Given the description of an element on the screen output the (x, y) to click on. 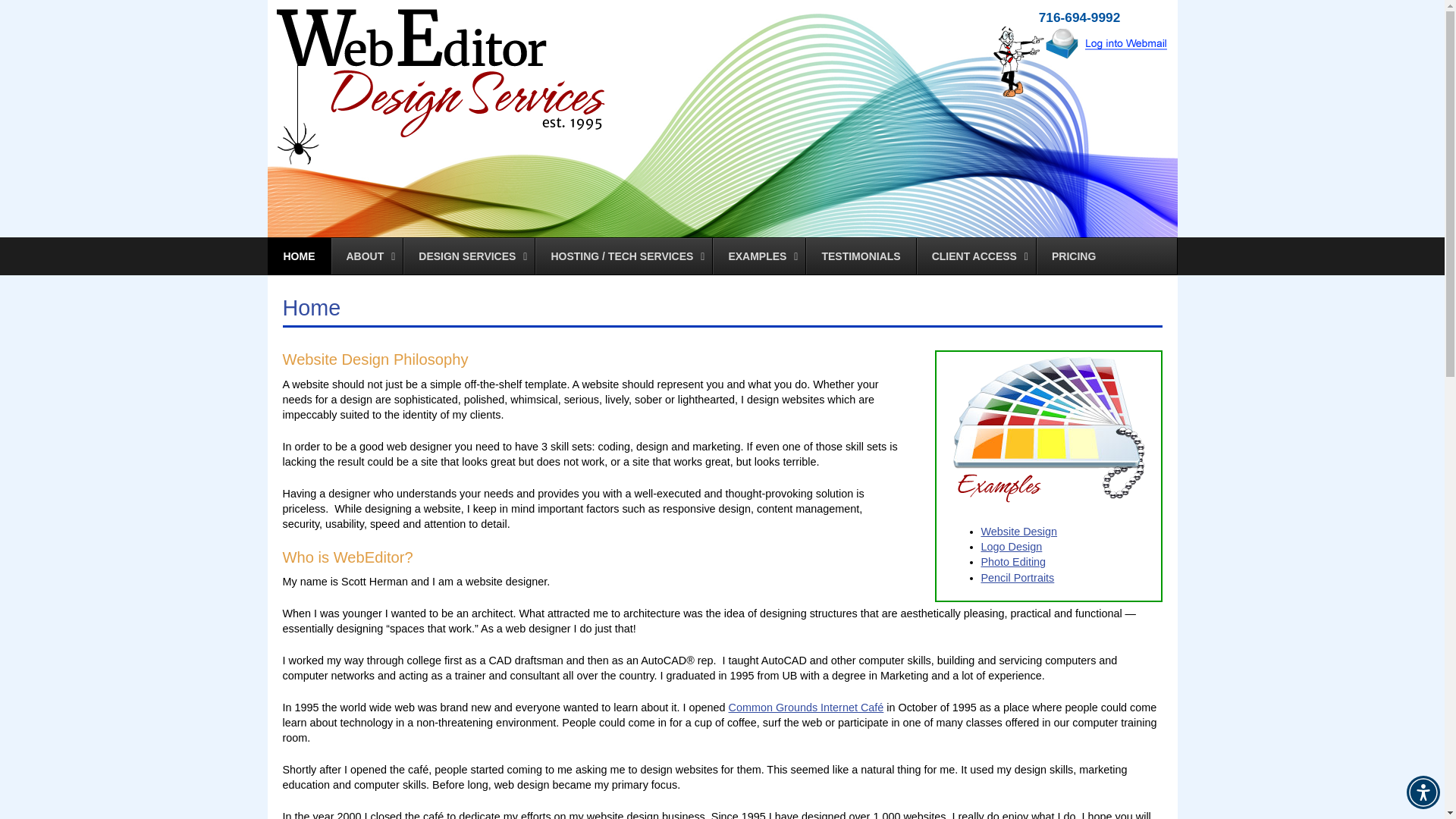
TESTIMONIALS (860, 256)
EXAMPLES (758, 256)
Photo Editing (1013, 562)
DESIGN SERVICES (468, 256)
Website Design (1019, 531)
CLIENT ACCESS (975, 256)
ABOUT (366, 256)
PRICING (1072, 256)
Logo Design (1011, 546)
HOME (298, 256)
Accessibility Menu (1422, 792)
